Given the description of an element on the screen output the (x, y) to click on. 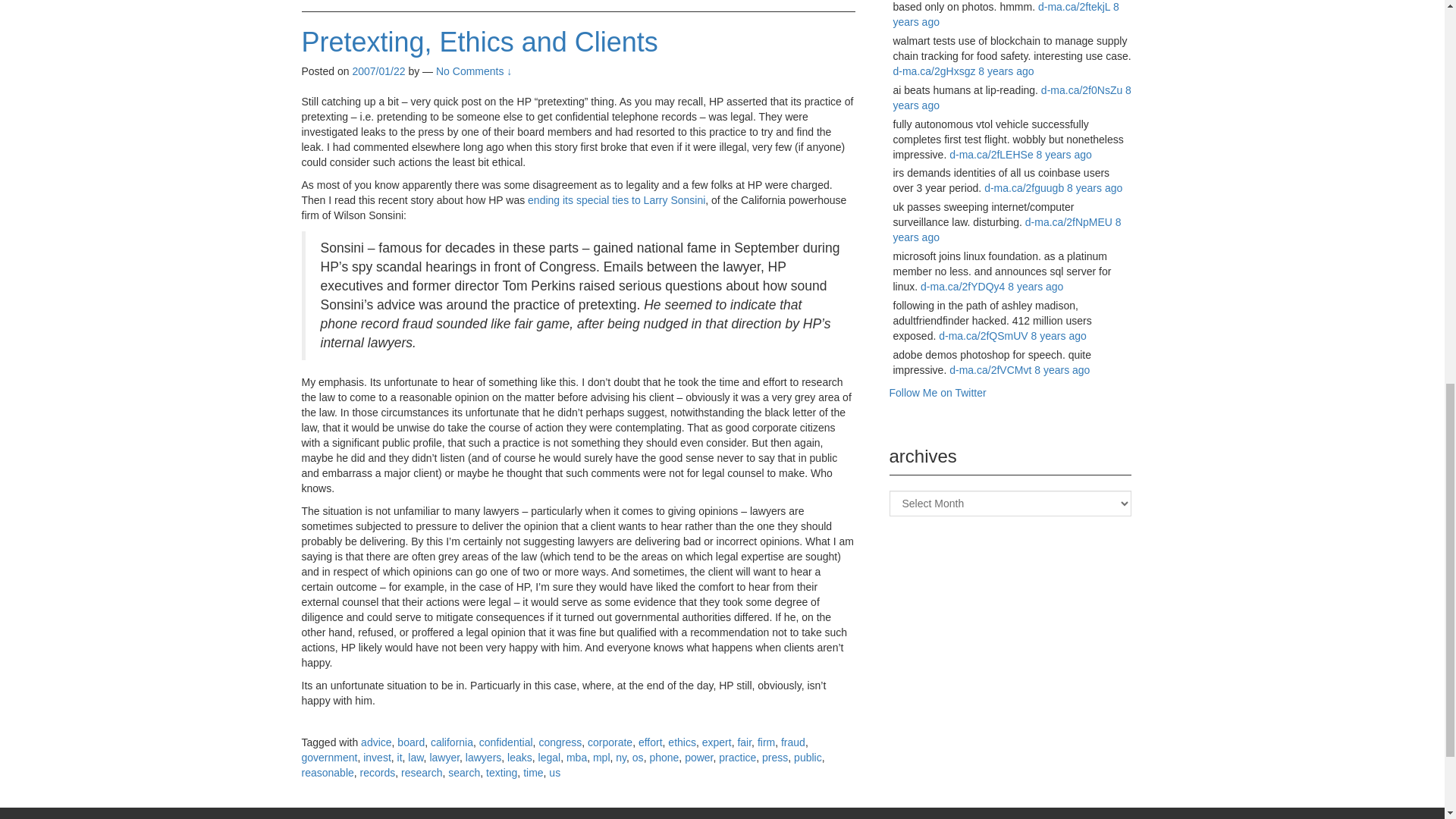
board (411, 742)
corporate (609, 742)
congress (559, 742)
confidential (505, 742)
california (451, 742)
advice (376, 742)
Pretexting, Ethics and Clients (479, 41)
ending its special ties to Larry Sonsini (615, 200)
